Given the description of an element on the screen output the (x, y) to click on. 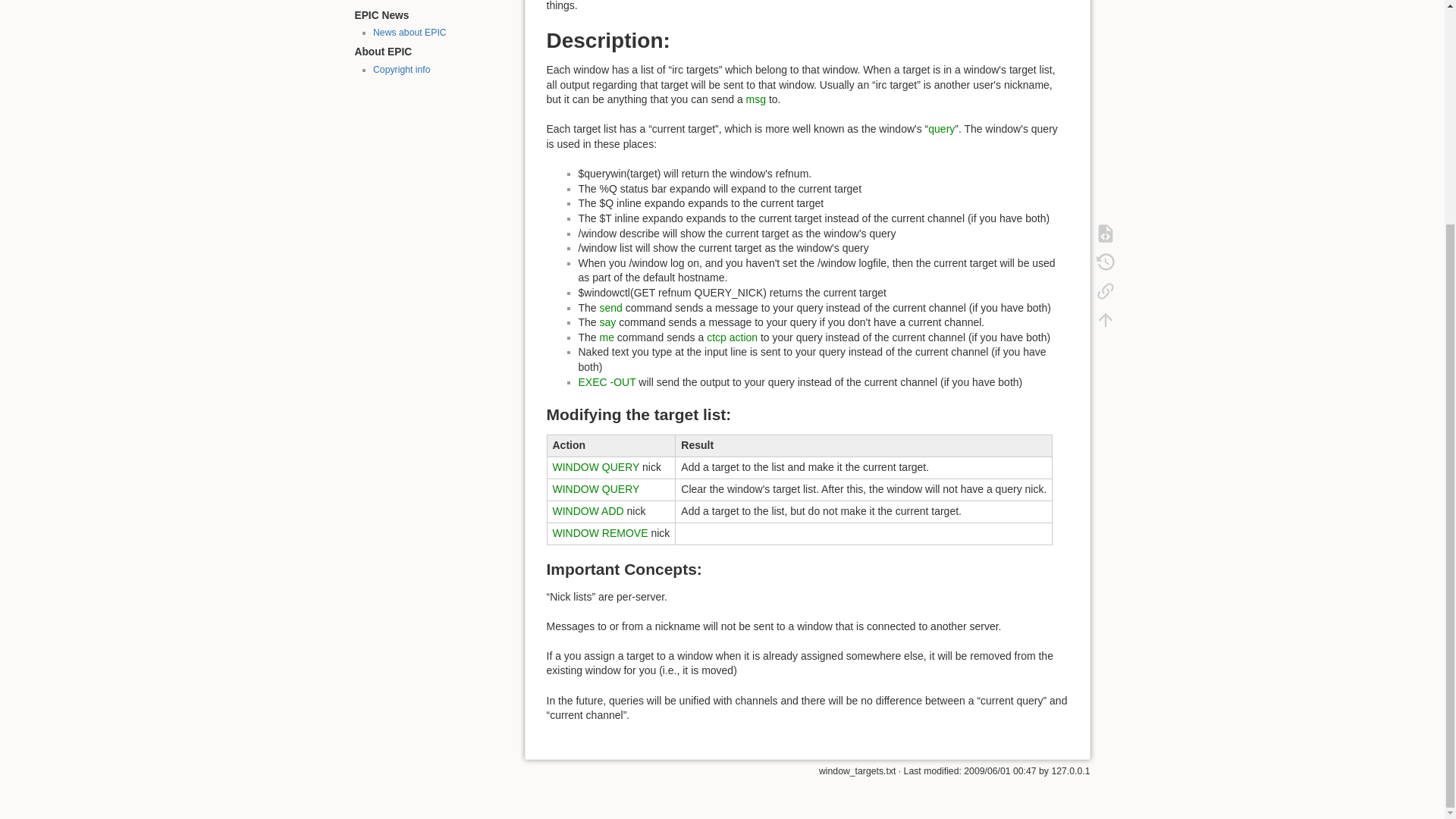
msg (755, 99)
WINDOW REMOVE (599, 532)
EPIC5 documentation (417, 0)
Copyright info (401, 69)
query (941, 128)
WINDOW ADD (587, 510)
say (607, 322)
ctcp action (731, 337)
send (611, 307)
WINDOW QUERY (595, 467)
